Given the description of an element on the screen output the (x, y) to click on. 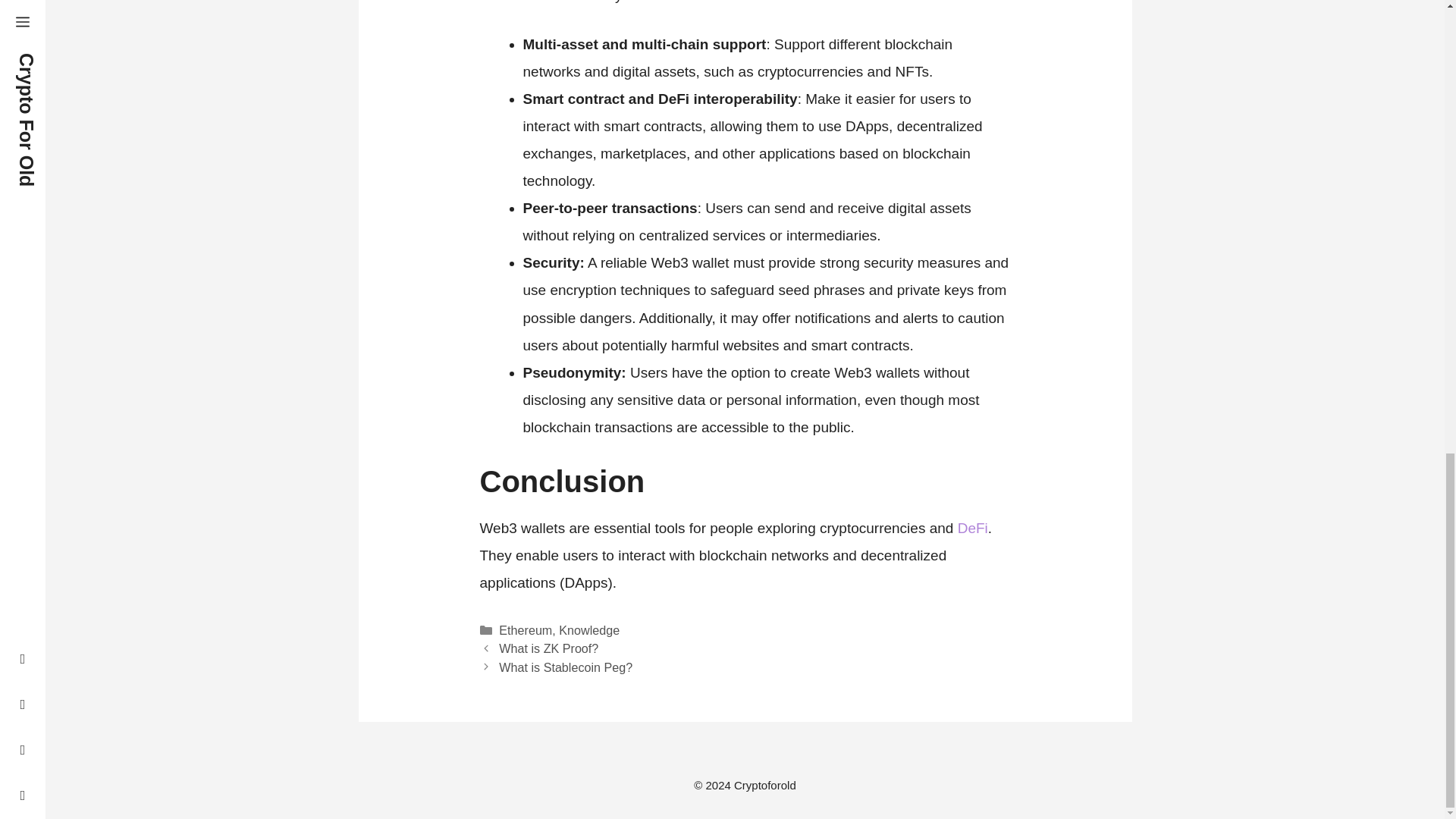
Ethereum (525, 630)
Knowledge (589, 630)
What is ZK Proof? (548, 648)
What is Stablecoin Peg? (565, 667)
DeFi (973, 528)
